Given the description of an element on the screen output the (x, y) to click on. 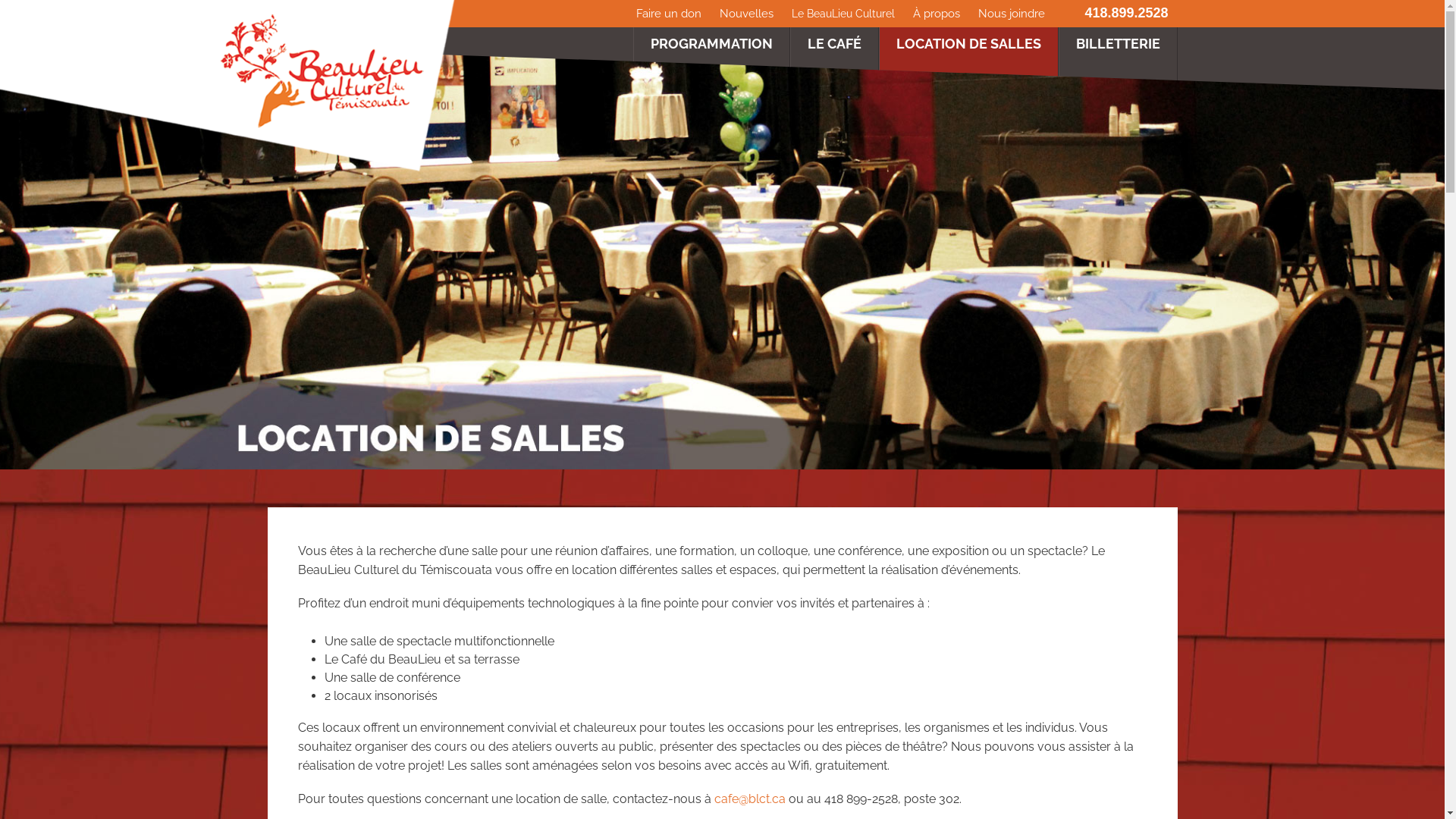
Nouvelles Element type: text (746, 13)
Nous joindre Element type: text (1011, 13)
Faire un don Element type: text (668, 13)
cafe@blct.ca Element type: text (749, 798)
BILLETTERIE Element type: text (1117, 57)
LOCATION DE SALLES Element type: text (968, 57)
PROGRAMMATION Element type: text (711, 57)
